Given the description of an element on the screen output the (x, y) to click on. 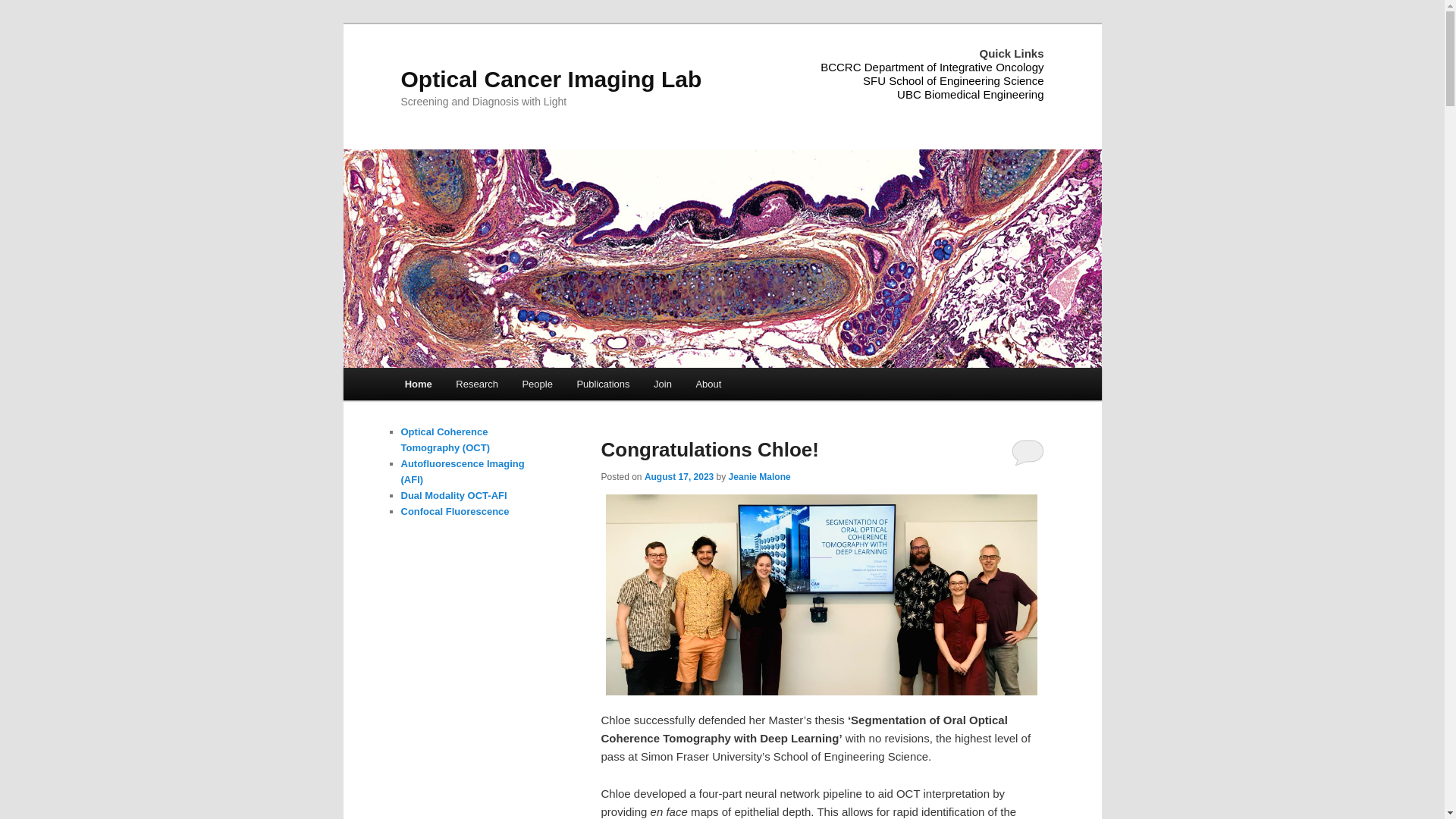
Confocal Fluorescence Element type: text (454, 511)
Dual Modality OCT-AFI Element type: text (453, 495)
SFU School of Engineering Science Element type: text (952, 80)
Congratulations Chloe! Element type: text (709, 449)
Research Element type: text (477, 383)
Autofluorescence Imaging (AFI) Element type: text (462, 471)
Skip to primary content Element type: text (414, 367)
Jeanie Malone Element type: text (759, 476)
Optical Cancer Imaging Lab Element type: text (550, 78)
UBC Biomedical Engineering Element type: text (970, 93)
Join Element type: text (662, 383)
People Element type: text (537, 383)
Publications Element type: text (603, 383)
August 17, 2023 Element type: text (678, 476)
BCCRC Department of Integrative Oncology Element type: text (931, 66)
Home Element type: text (418, 383)
About Element type: text (708, 383)
Optical Coherence Tomography (OCT) Element type: text (444, 439)
